Given the description of an element on the screen output the (x, y) to click on. 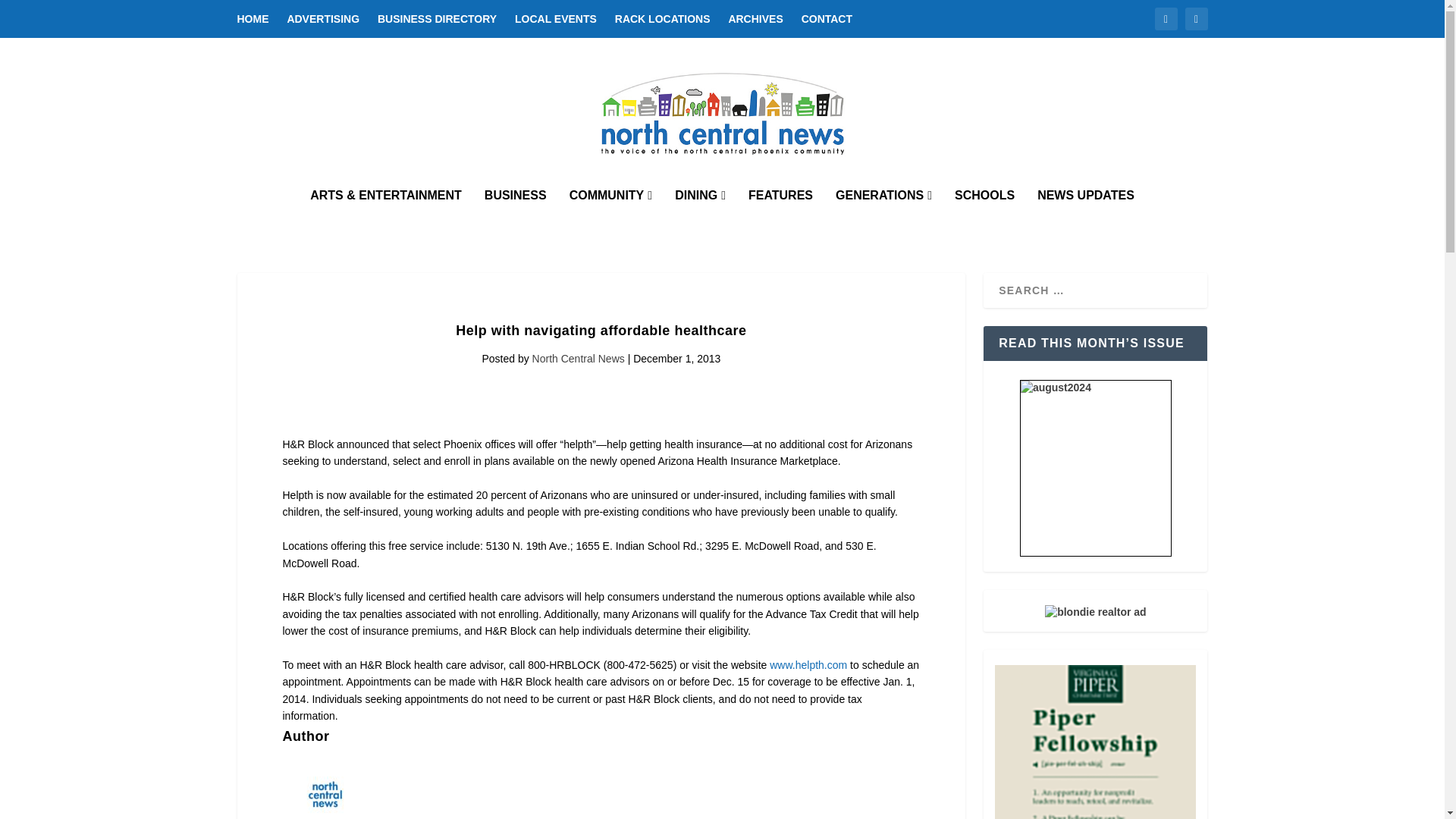
NEWS UPDATES (1085, 215)
BUSINESS (515, 215)
LOCAL EVENTS (555, 18)
www.helpth.com (808, 664)
North Central News (578, 358)
ARCHIVES (755, 18)
GENERATIONS (883, 215)
SCHOOLS (984, 215)
DINING (700, 215)
COMMUNITY (610, 215)
BUSINESS DIRECTORY (436, 18)
FEATURES (780, 215)
CONTACT (826, 18)
ADVERTISING (322, 18)
RACK LOCATIONS (662, 18)
